Given the description of an element on the screen output the (x, y) to click on. 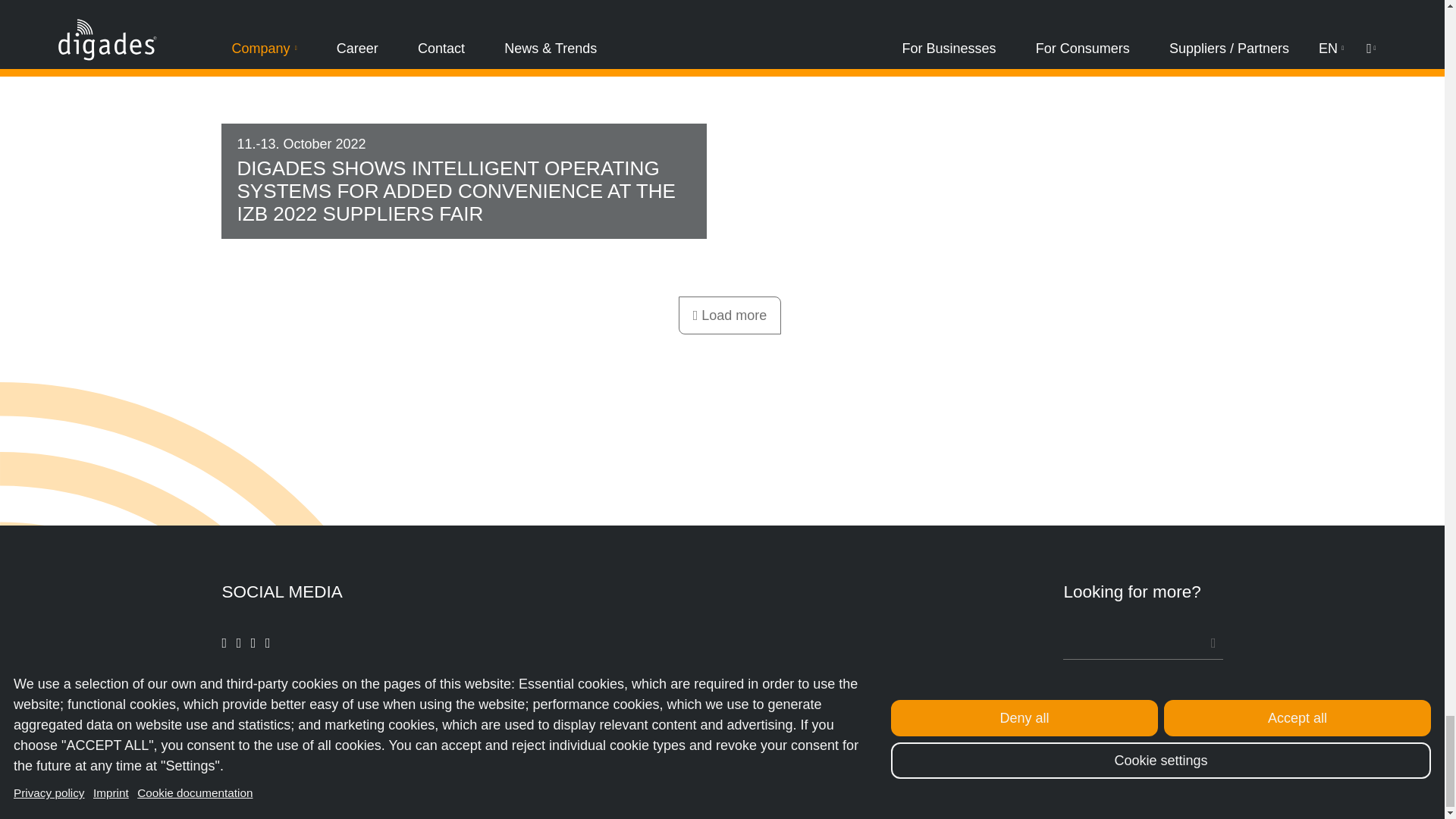
Whistleblower protection act (990, 774)
Show more (729, 315)
Enter the terms you wish to search for. (1142, 643)
 Load more (729, 329)
Open the cookie consent dialog. (581, 774)
 Load more (729, 329)
